Given the description of an element on the screen output the (x, y) to click on. 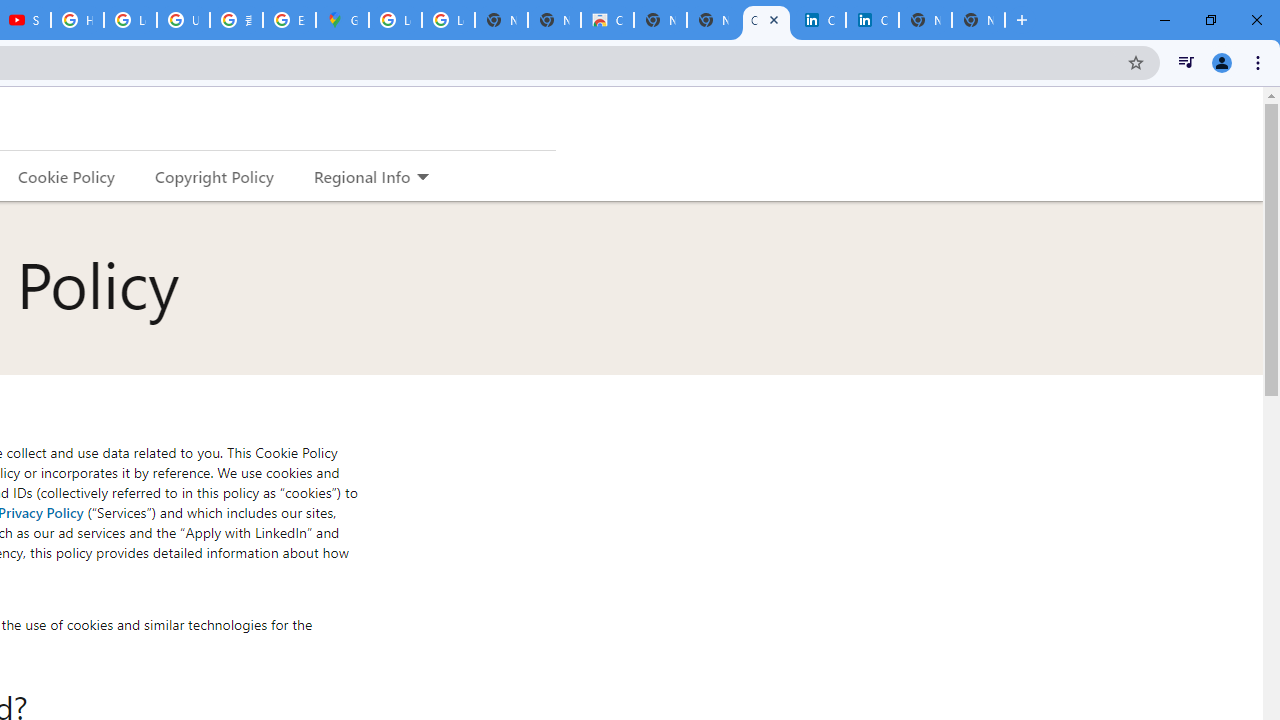
Copyright Policy (213, 176)
Google Maps (342, 20)
Chrome Web Store (607, 20)
